Given the description of an element on the screen output the (x, y) to click on. 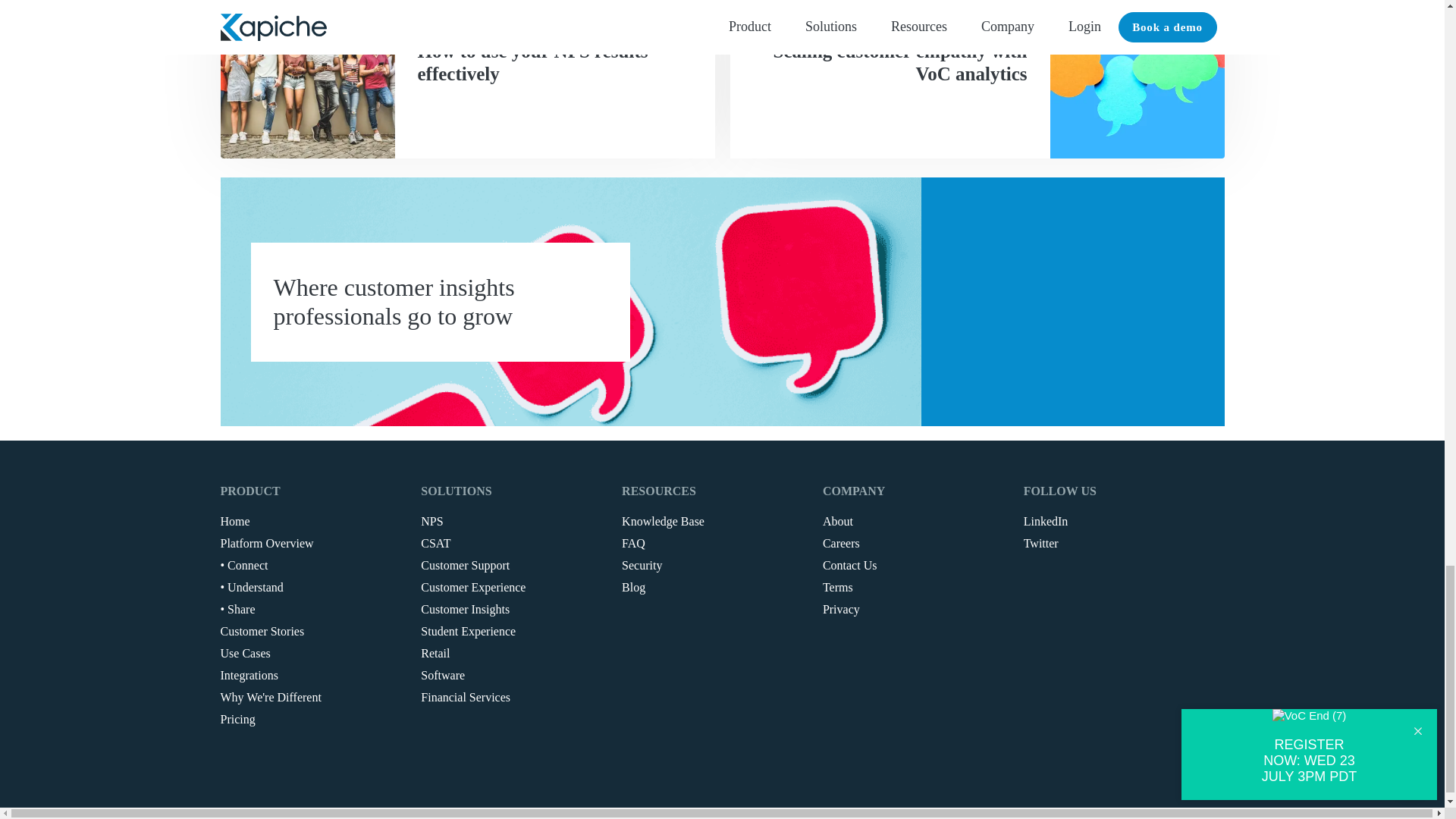
Form 0 (1071, 301)
